Given the description of an element on the screen output the (x, y) to click on. 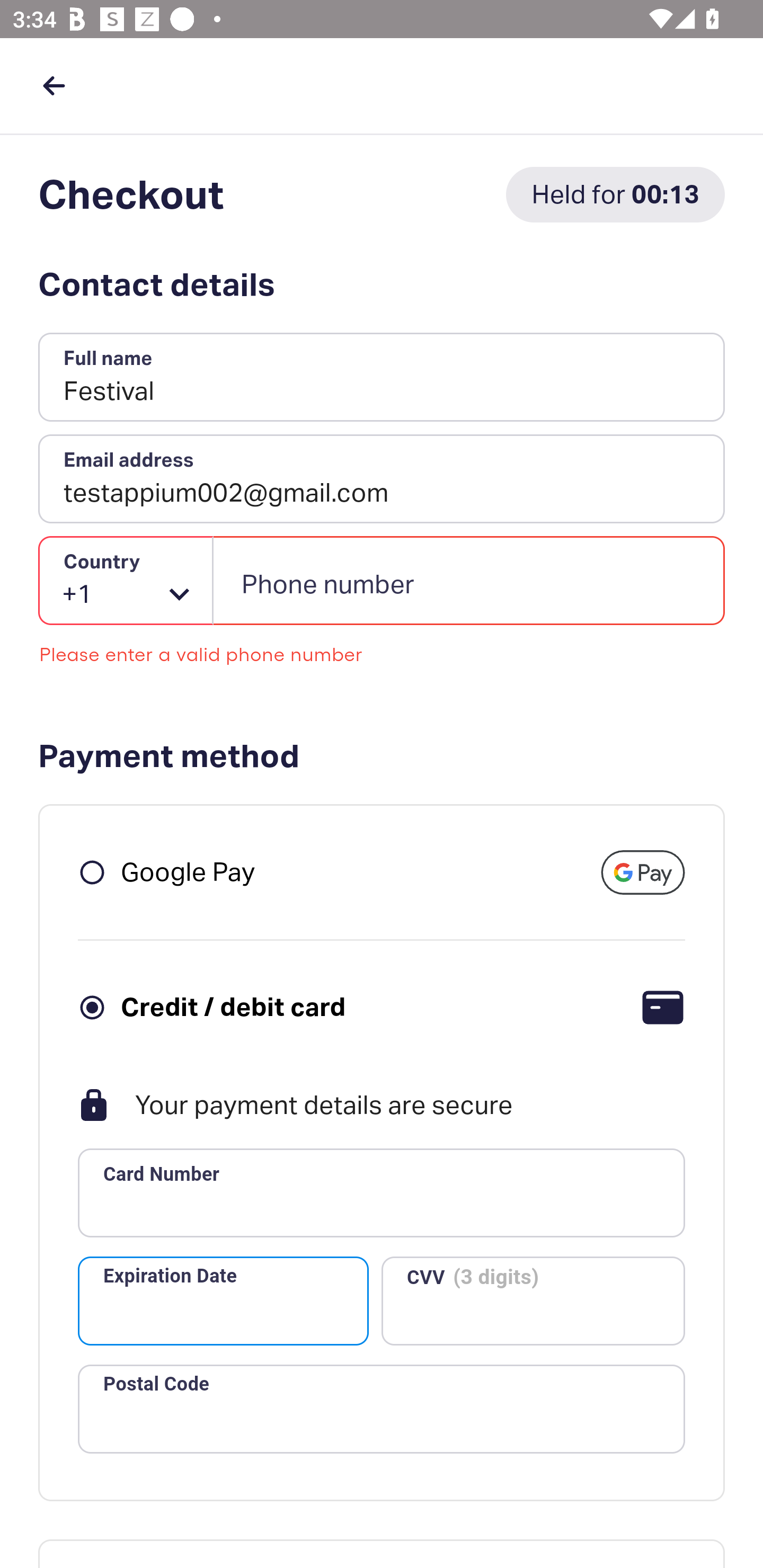
back button (53, 85)
Festival (381, 377)
testappium002@gmail.com (381, 478)
  +1 (126, 580)
Google Pay (187, 871)
Credit / debit card (233, 1006)
Card Number (381, 1192)
Expiration Date (222, 1300)
CVV (3 digits) (533, 1300)
Postal Code (381, 1408)
